Given the description of an element on the screen output the (x, y) to click on. 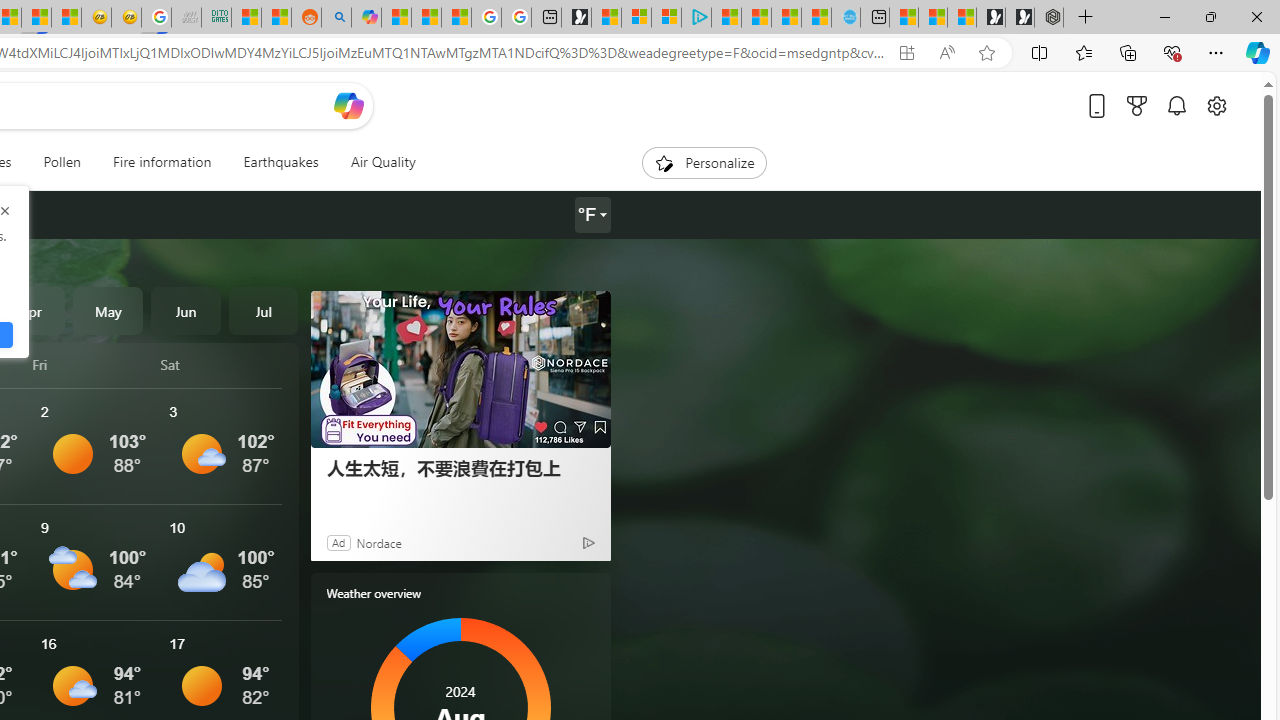
Home | Sky Blue Bikes - Sky Blue Bikes (846, 17)
DITOGAMES AG Imprint (216, 17)
Jun (186, 310)
Jul (263, 310)
App available. Install Microsoft Start Weather (906, 53)
Pollen (61, 162)
